Given the description of an element on the screen output the (x, y) to click on. 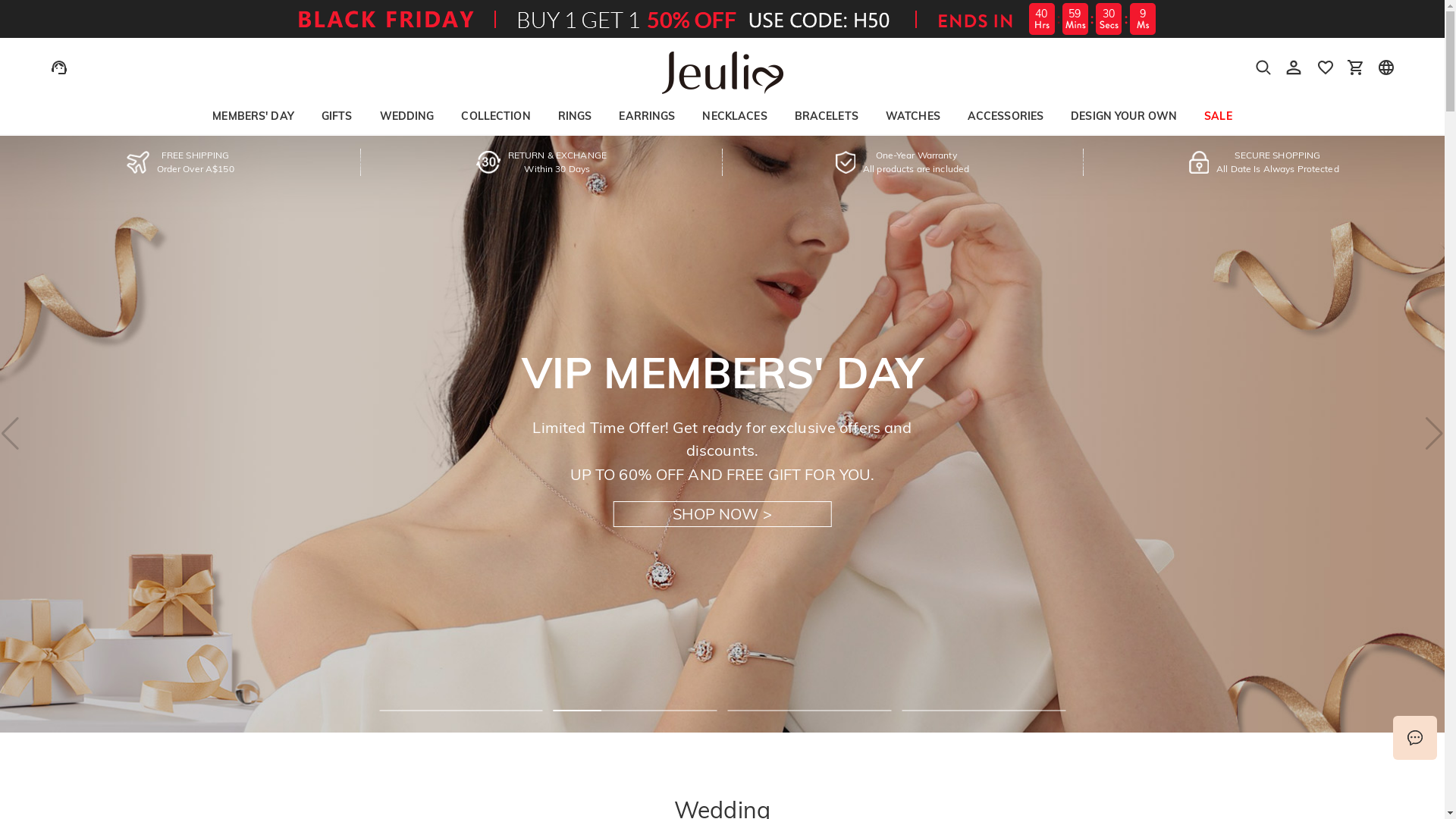
BRACELETS Element type: text (826, 115)
GIFTS Element type: text (336, 115)
ACCESSORIES Element type: text (1005, 115)
40
59
50
4 Element type: text (722, 18)
EARRINGS Element type: text (646, 115)
COLLECTION Element type: text (495, 115)
RINGS Element type: text (574, 115)
SALE Element type: text (1217, 115)
WEDDING Element type: text (406, 115)
WATCHES Element type: text (912, 115)
NECKLACES Element type: text (734, 115)
MEMBERS' DAY Element type: text (252, 115)
DESIGN YOUR OWN Element type: text (1123, 115)
